Given the description of an element on the screen output the (x, y) to click on. 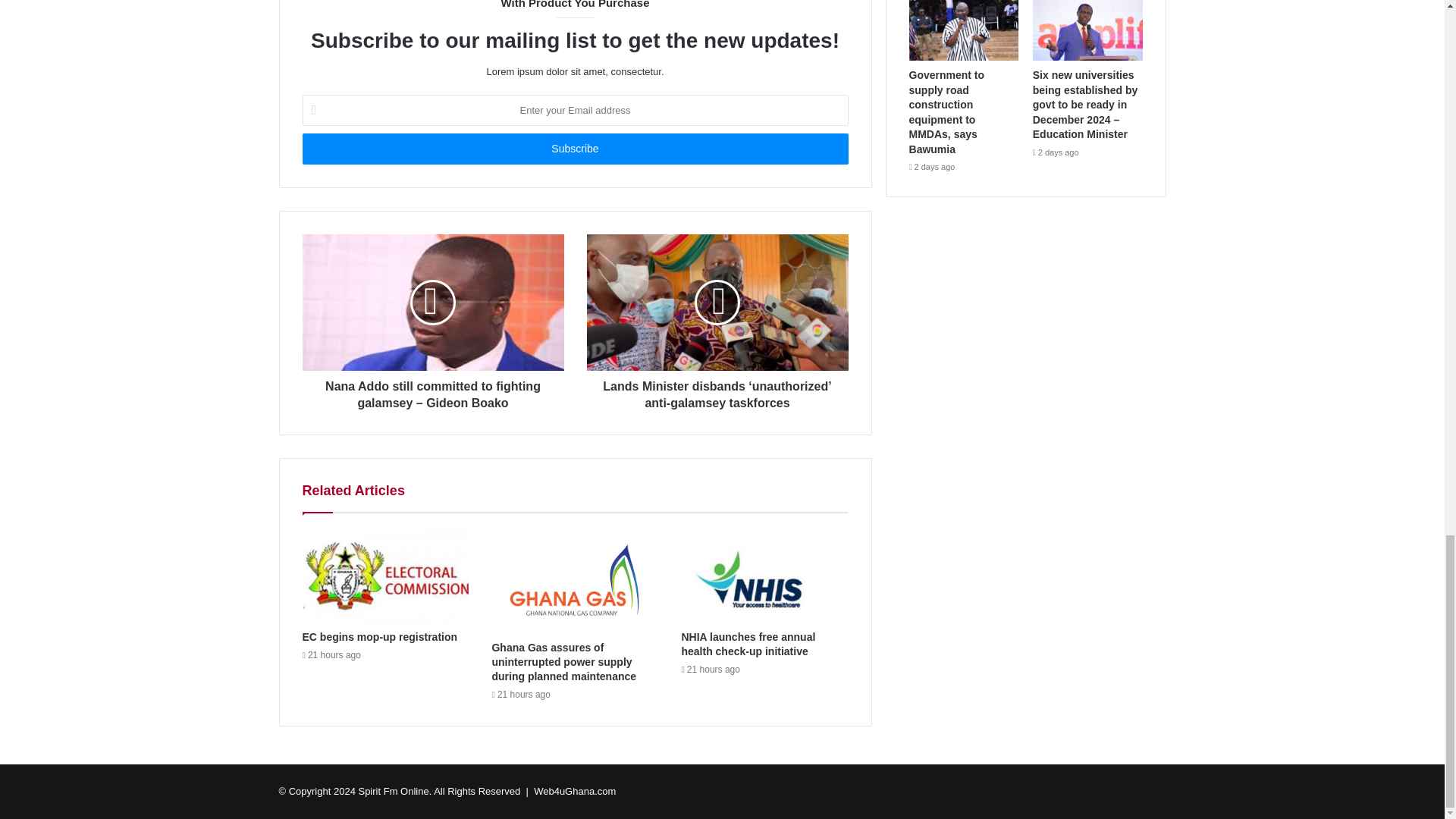
EC begins mop-up registration (379, 636)
Subscribe (574, 148)
Subscribe (574, 148)
NHIA launches free annual health check-up initiative (748, 643)
